Given the description of an element on the screen output the (x, y) to click on. 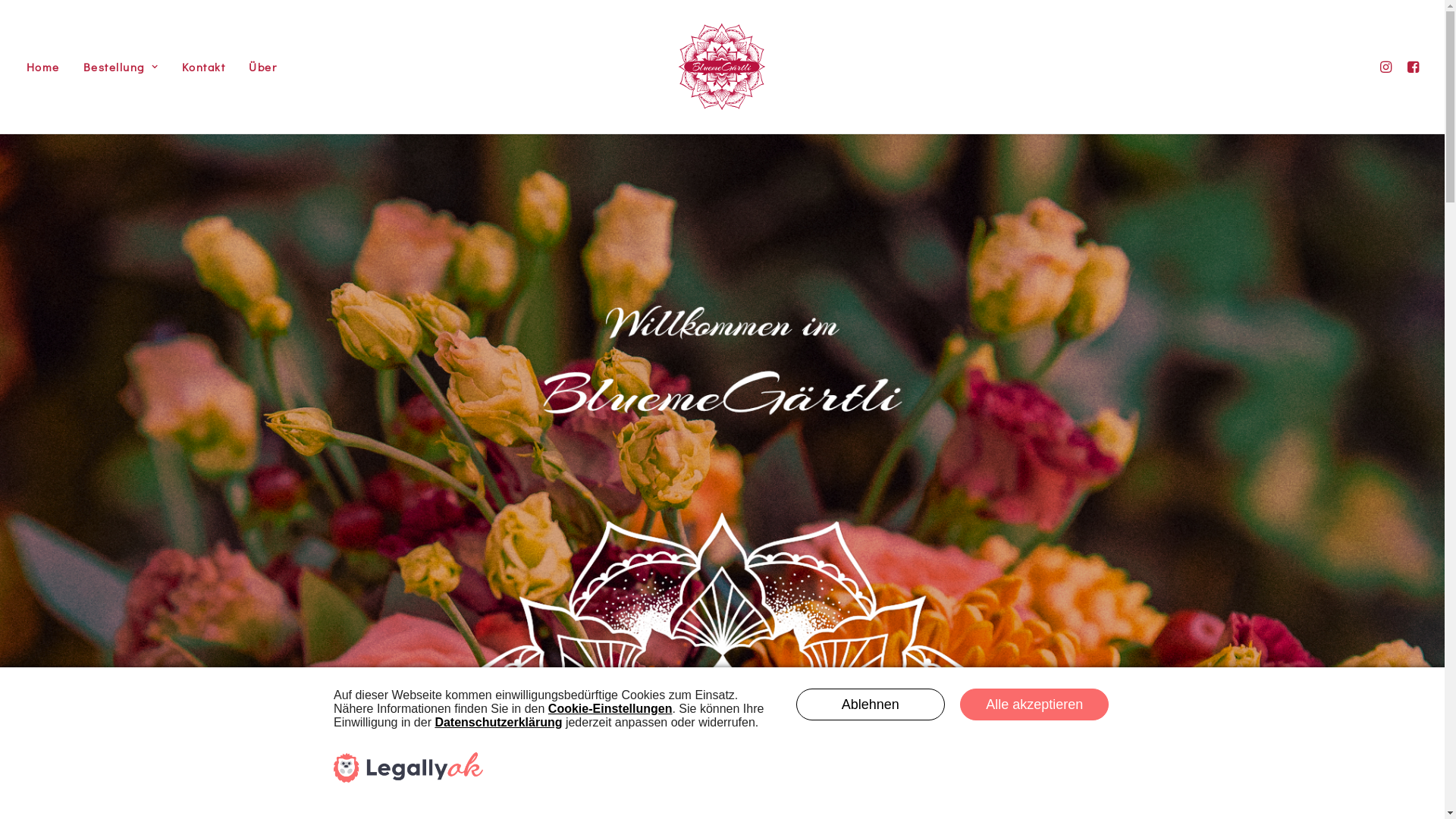
Bestellung Element type: text (120, 66)
Kontakt Element type: text (203, 66)
Home Element type: text (47, 66)
